Given the description of an element on the screen output the (x, y) to click on. 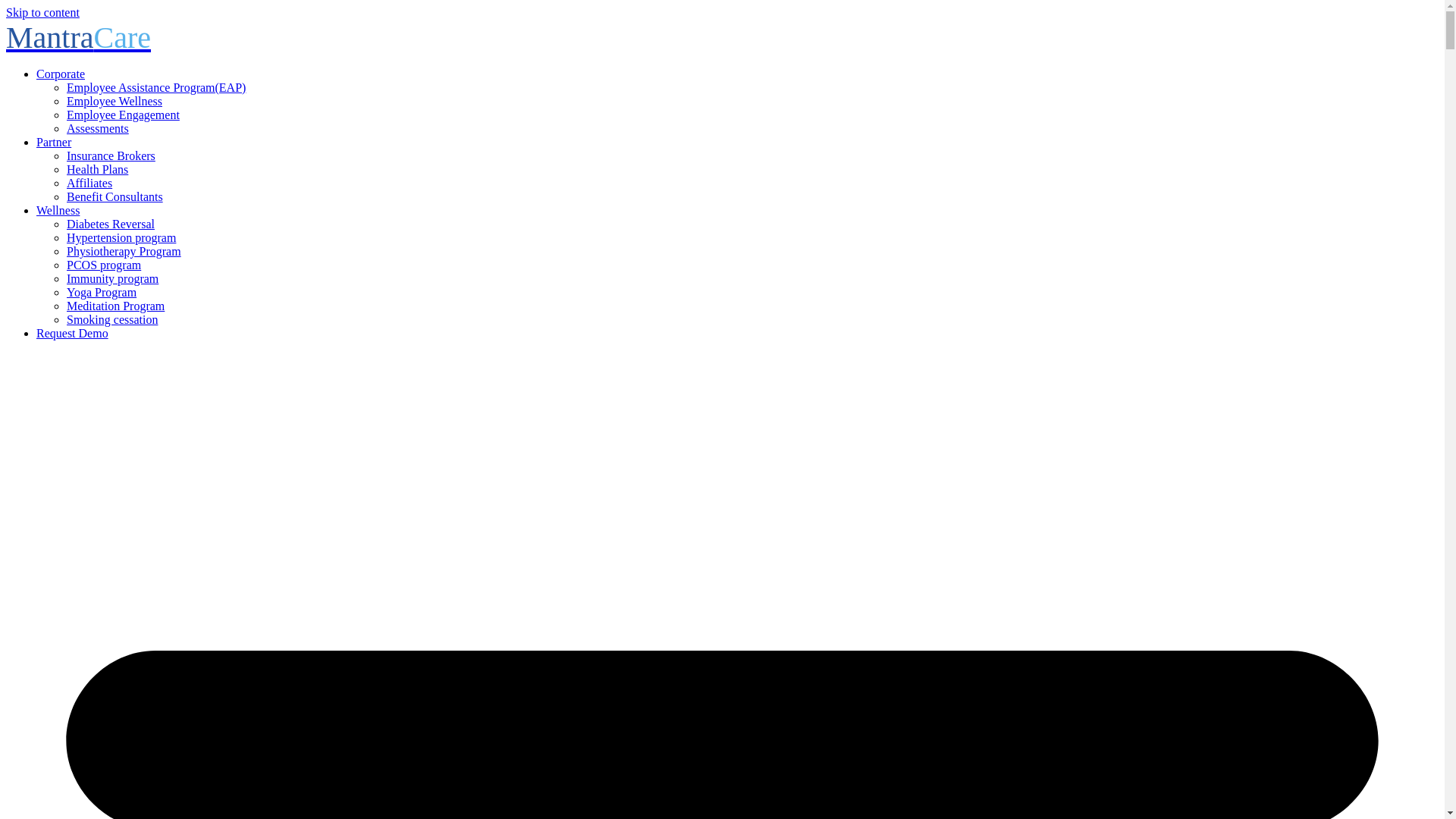
Physiotherapy Program (123, 250)
Request Demo (71, 332)
Benefit Consultants (114, 196)
Skip to content (42, 11)
Insurance Brokers (110, 155)
Immunity program (112, 278)
Employee Wellness (113, 101)
Skip to content (42, 11)
Corporate (60, 73)
Health Plans (97, 169)
Smoking cessation (111, 318)
Assessments (97, 128)
PCOS program (103, 264)
Affiliates (89, 182)
Meditation Program (115, 305)
